Given the description of an element on the screen output the (x, y) to click on. 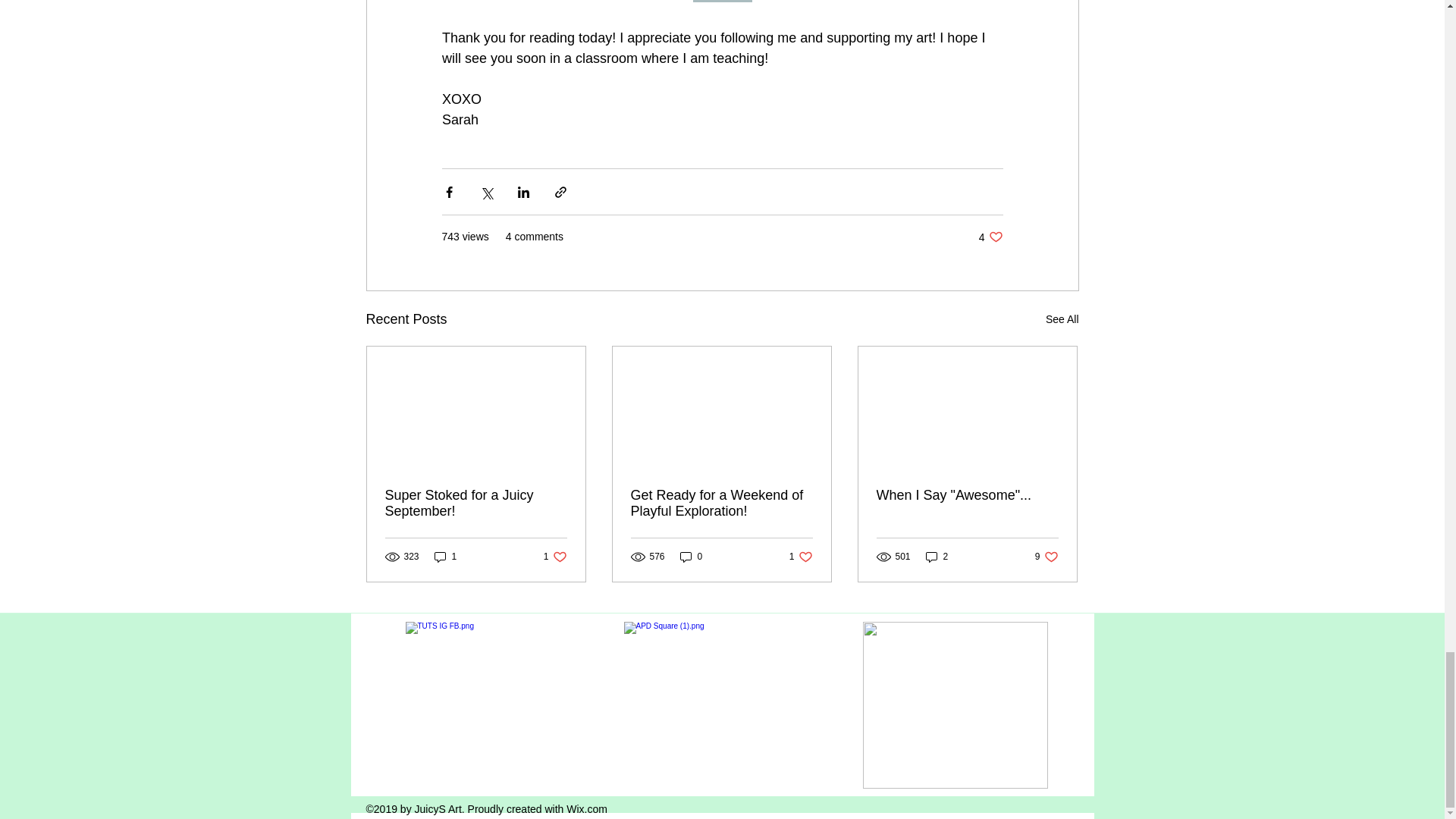
See All (1061, 319)
Click Me (800, 556)
2 (722, 1)
0 (555, 556)
When I Say "Awesome"... (937, 556)
1 (691, 556)
Get Ready for a Weekend of Playful Exploration! (967, 495)
